Given the description of an element on the screen output the (x, y) to click on. 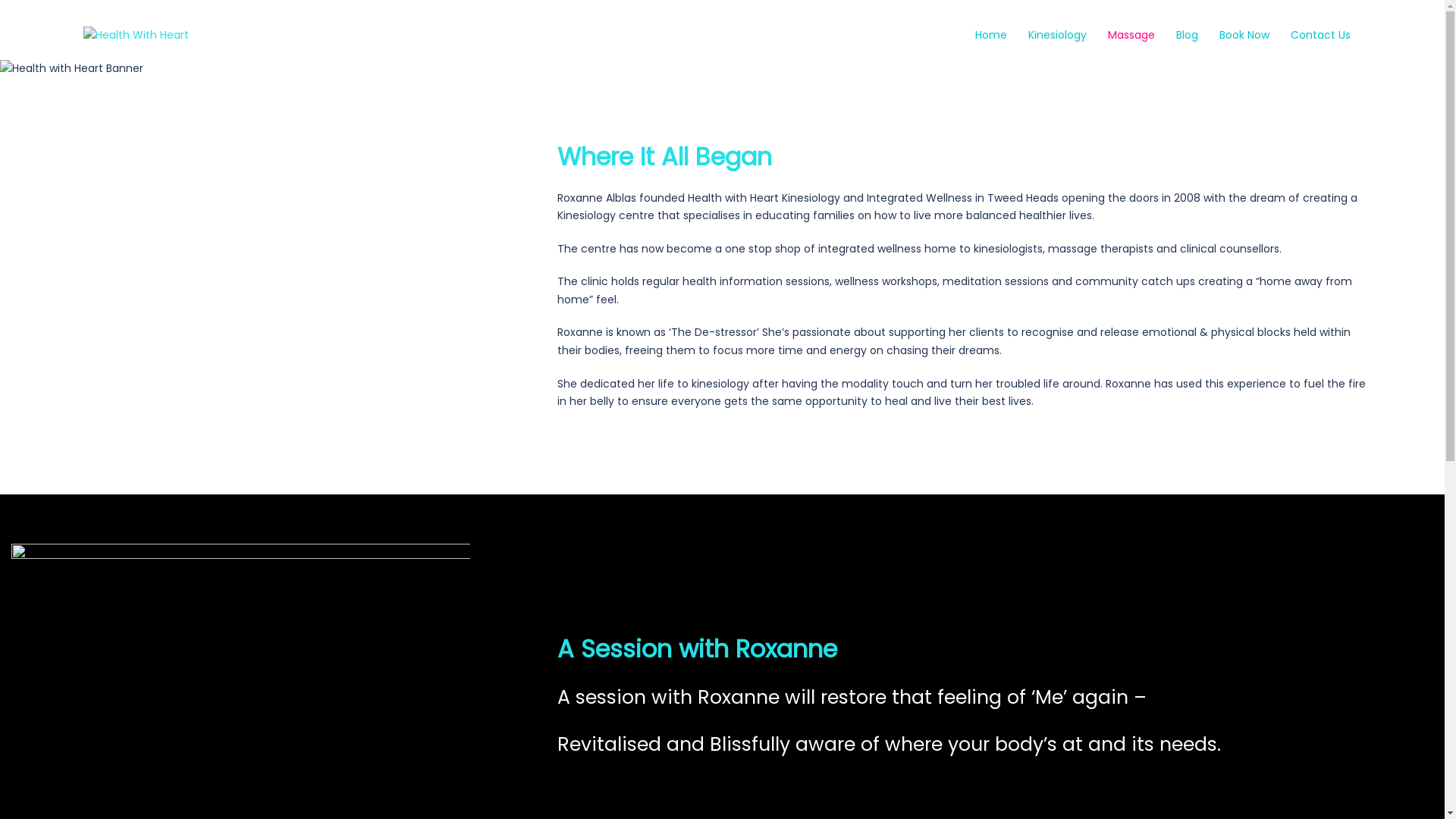
Contact Us Element type: text (1320, 35)
Blog Element type: text (1187, 35)
Massage Element type: text (1130, 35)
Skip to content Element type: text (0, 0)
Health With Heart Element type: hover (135, 34)
Book Now Element type: text (1244, 35)
Home Element type: text (991, 35)
Kinesiology Element type: text (1057, 35)
